Given the description of an element on the screen output the (x, y) to click on. 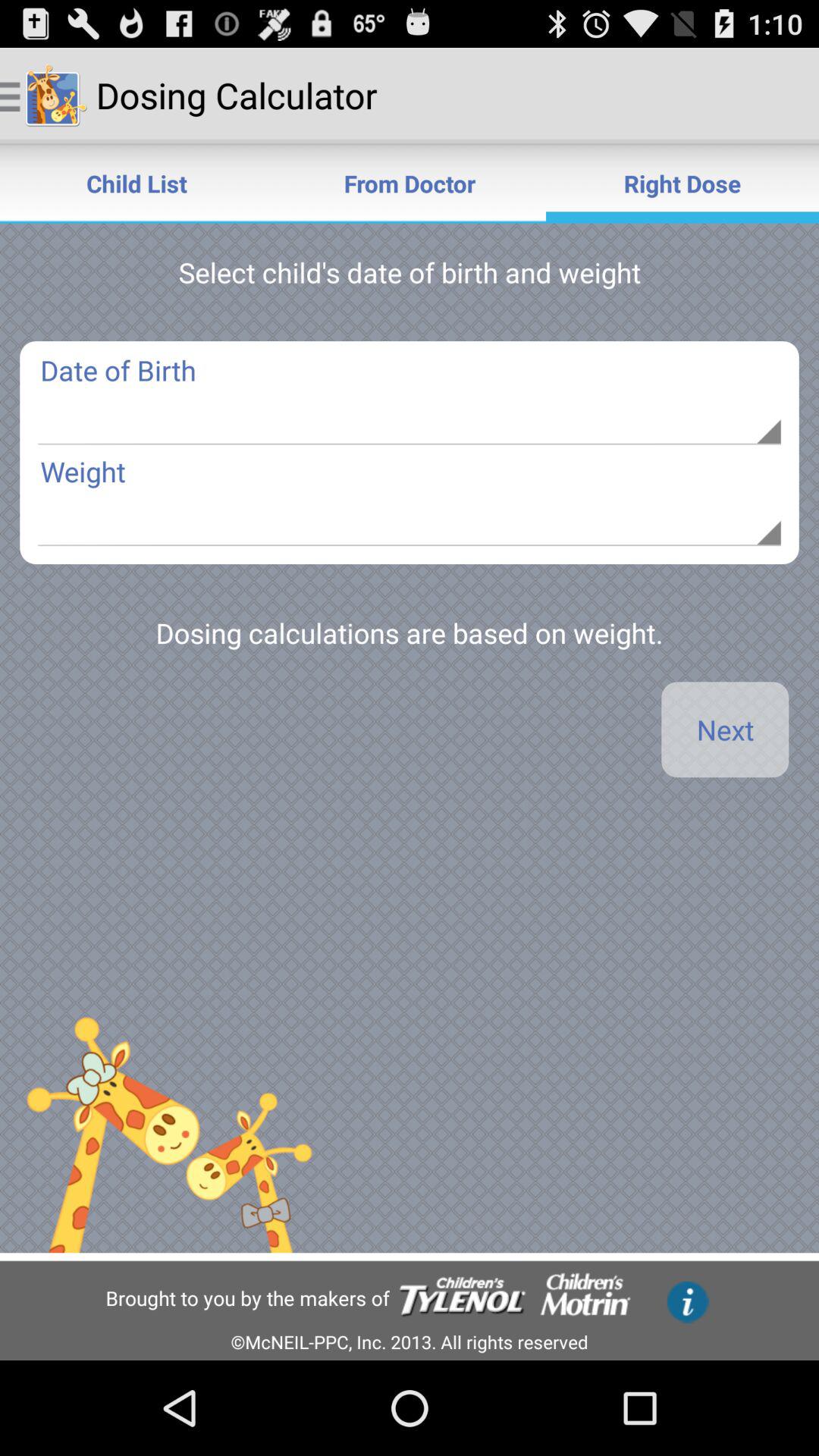
choose the item on the right (724, 729)
